Given the description of an element on the screen output the (x, y) to click on. 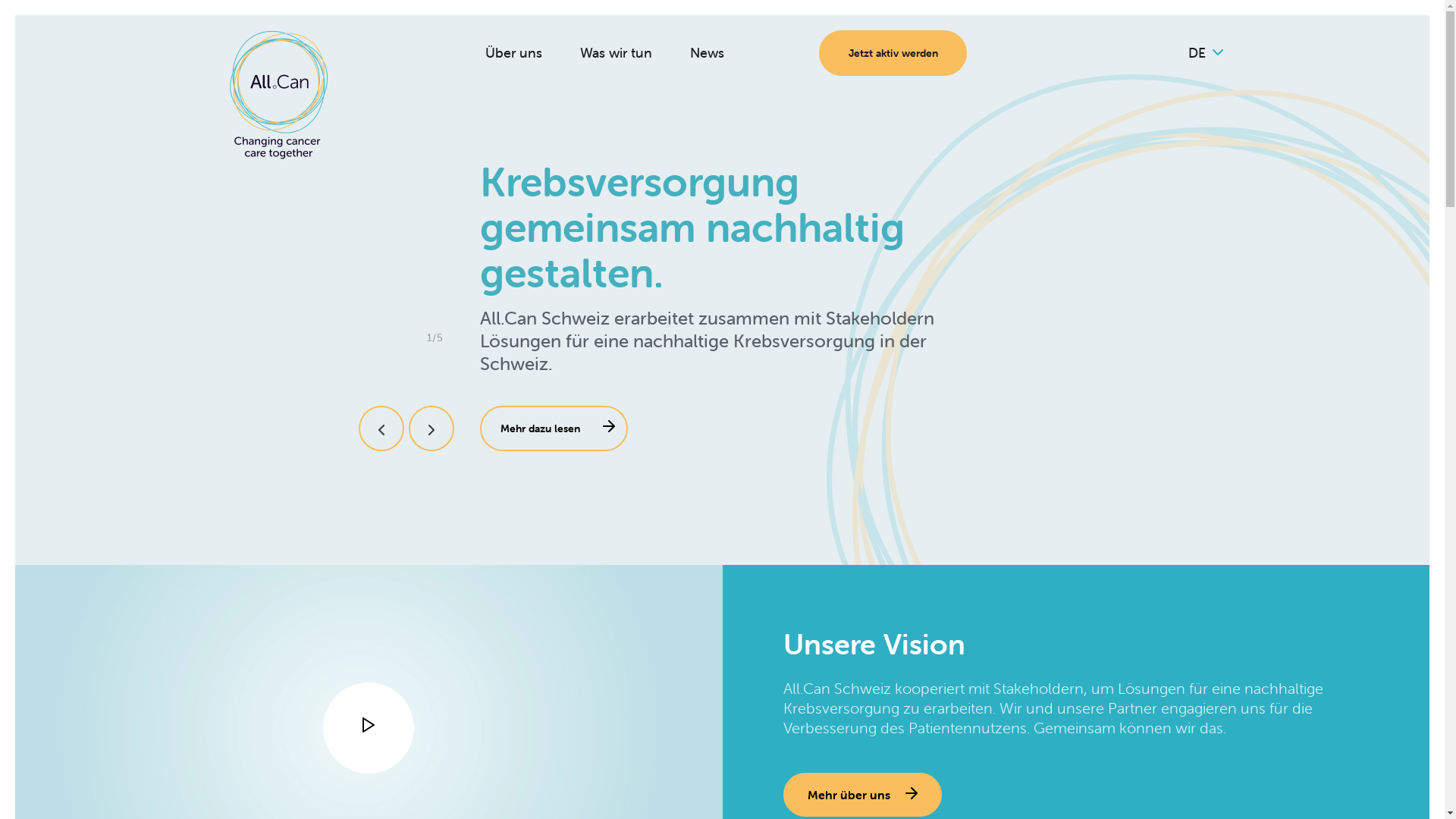
News Element type: text (707, 52)
DE Element type: text (1204, 52)
Next Element type: text (430, 428)
Previous Element type: text (380, 428)
Jetzt aktiv werden Element type: text (892, 52)
Was wir tun Element type: text (616, 52)
Mehr dazu lesen Element type: text (553, 428)
